Given the description of an element on the screen output the (x, y) to click on. 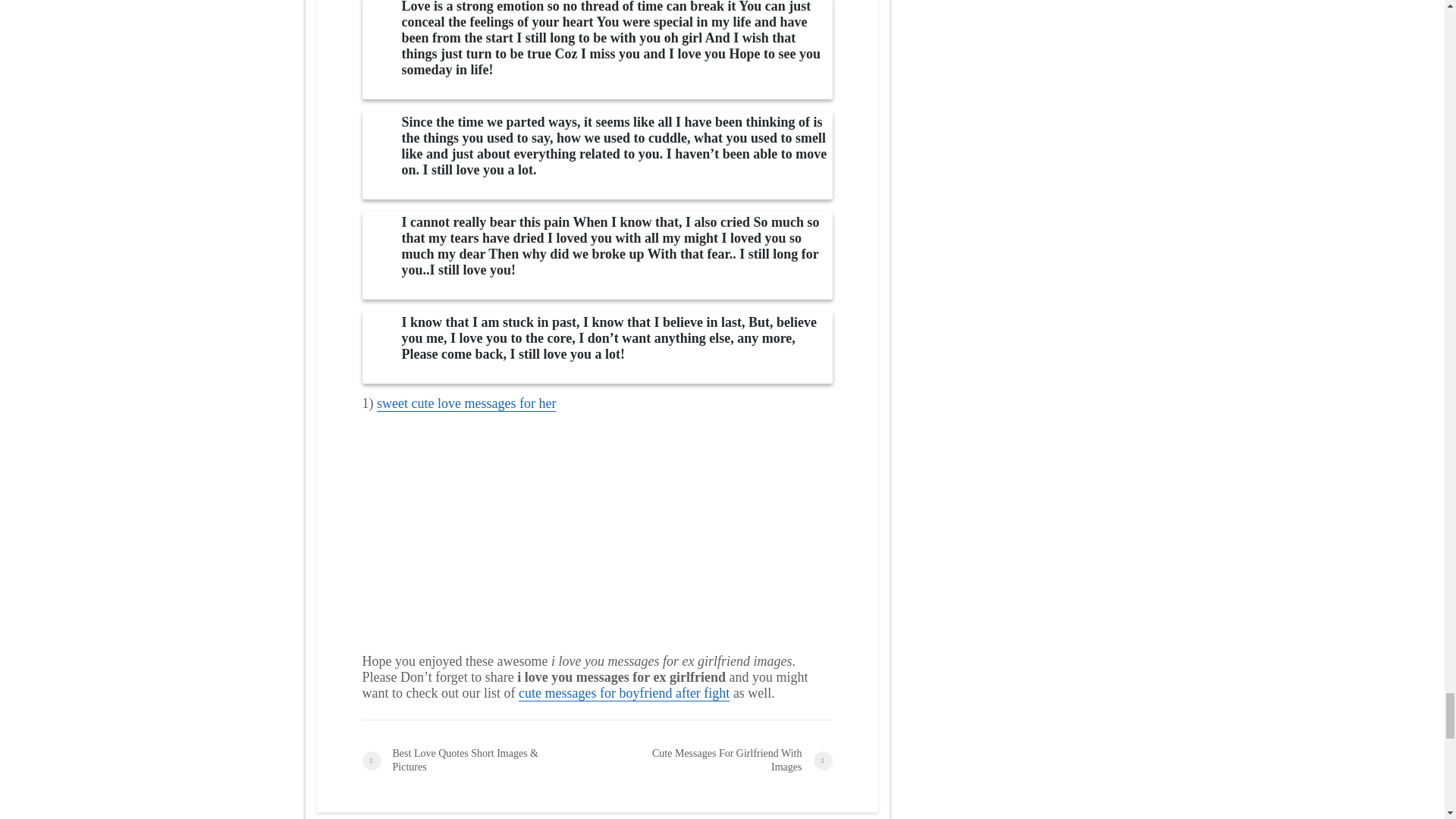
Cute Messages For Girlfriend With Images (714, 759)
sweet cute love messages for her (466, 403)
cute messages for boyfriend after fight (623, 693)
